Given the description of an element on the screen output the (x, y) to click on. 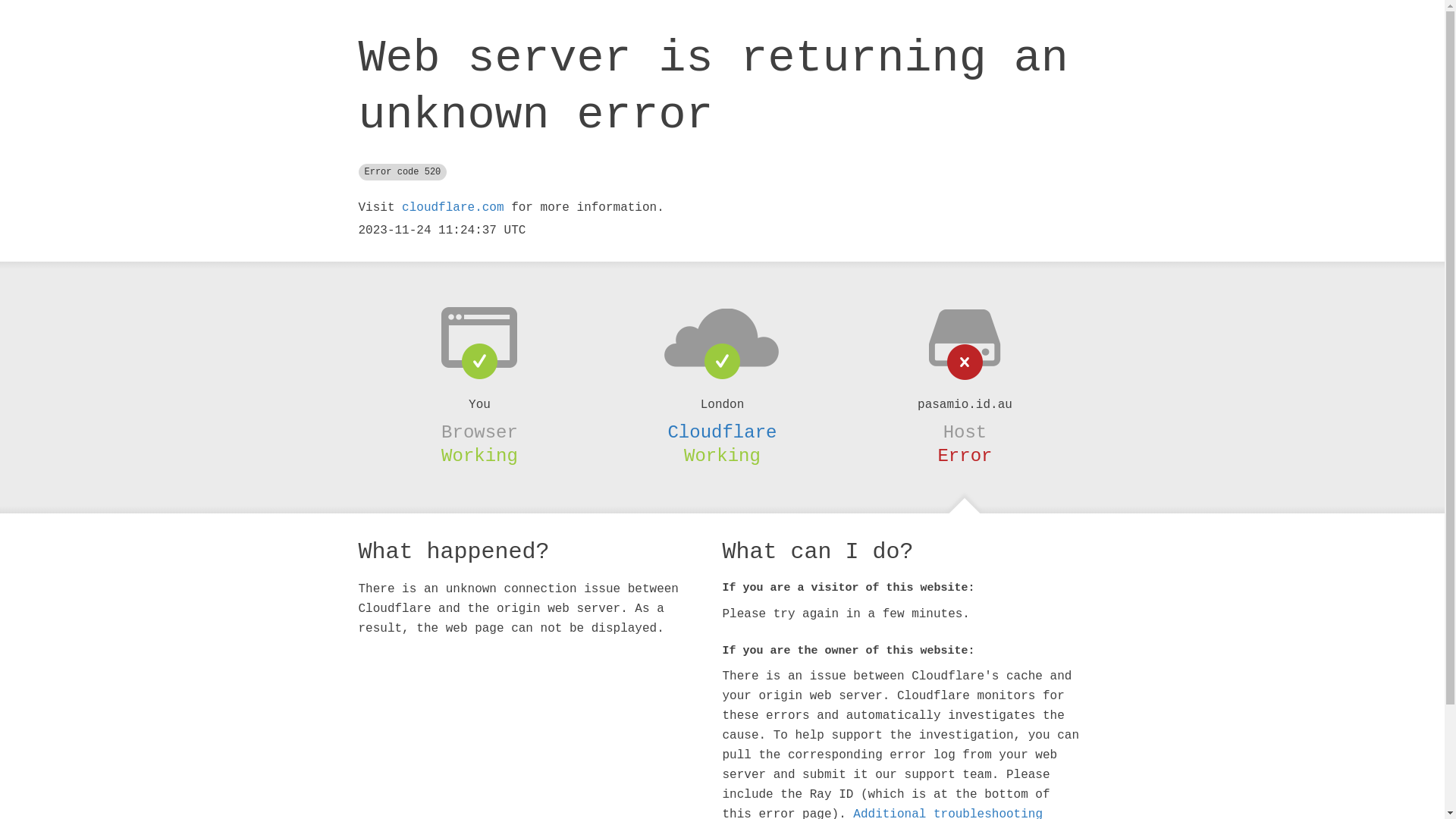
cloudflare.com Element type: text (452, 207)
Cloudflare Element type: text (721, 432)
